Given the description of an element on the screen output the (x, y) to click on. 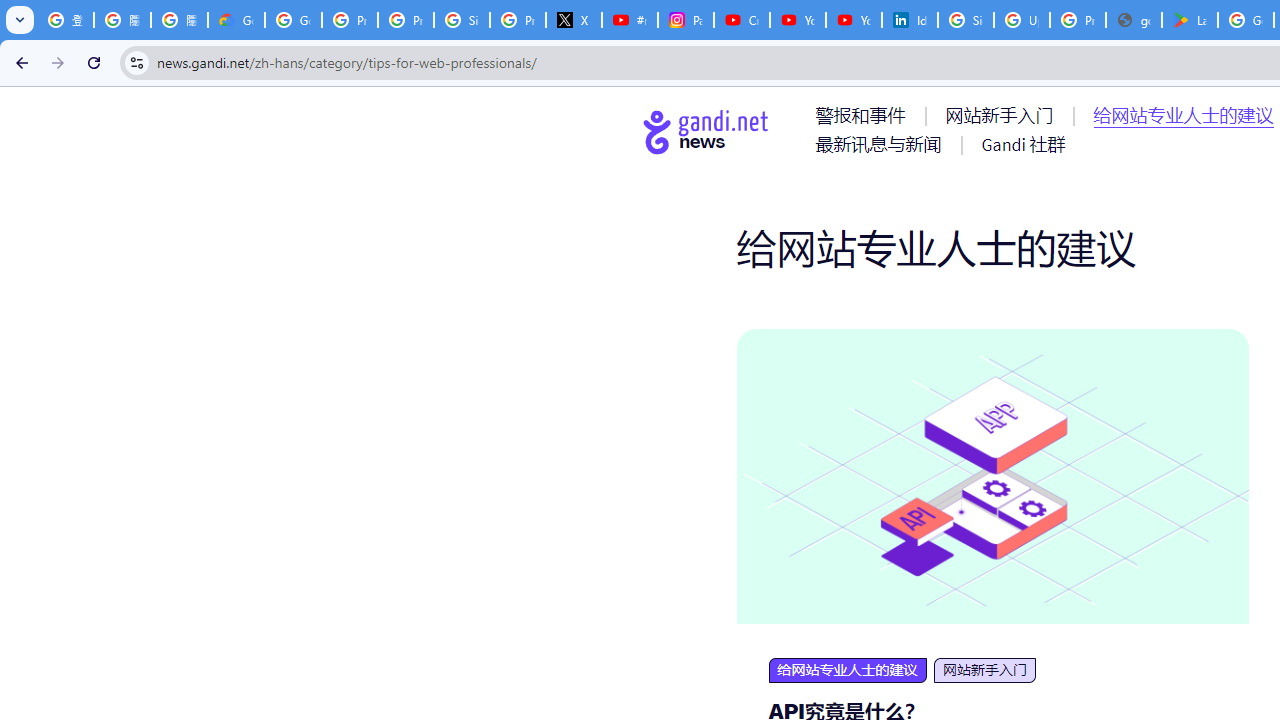
Identity verification via Persona | LinkedIn Help (909, 20)
X (573, 20)
Sign in - Google Accounts (966, 20)
Privacy Help Center - Policies Help (405, 20)
AutomationID: menu-item-77762 (1003, 115)
Google Cloud Privacy Notice (235, 20)
